Given the description of an element on the screen output the (x, y) to click on. 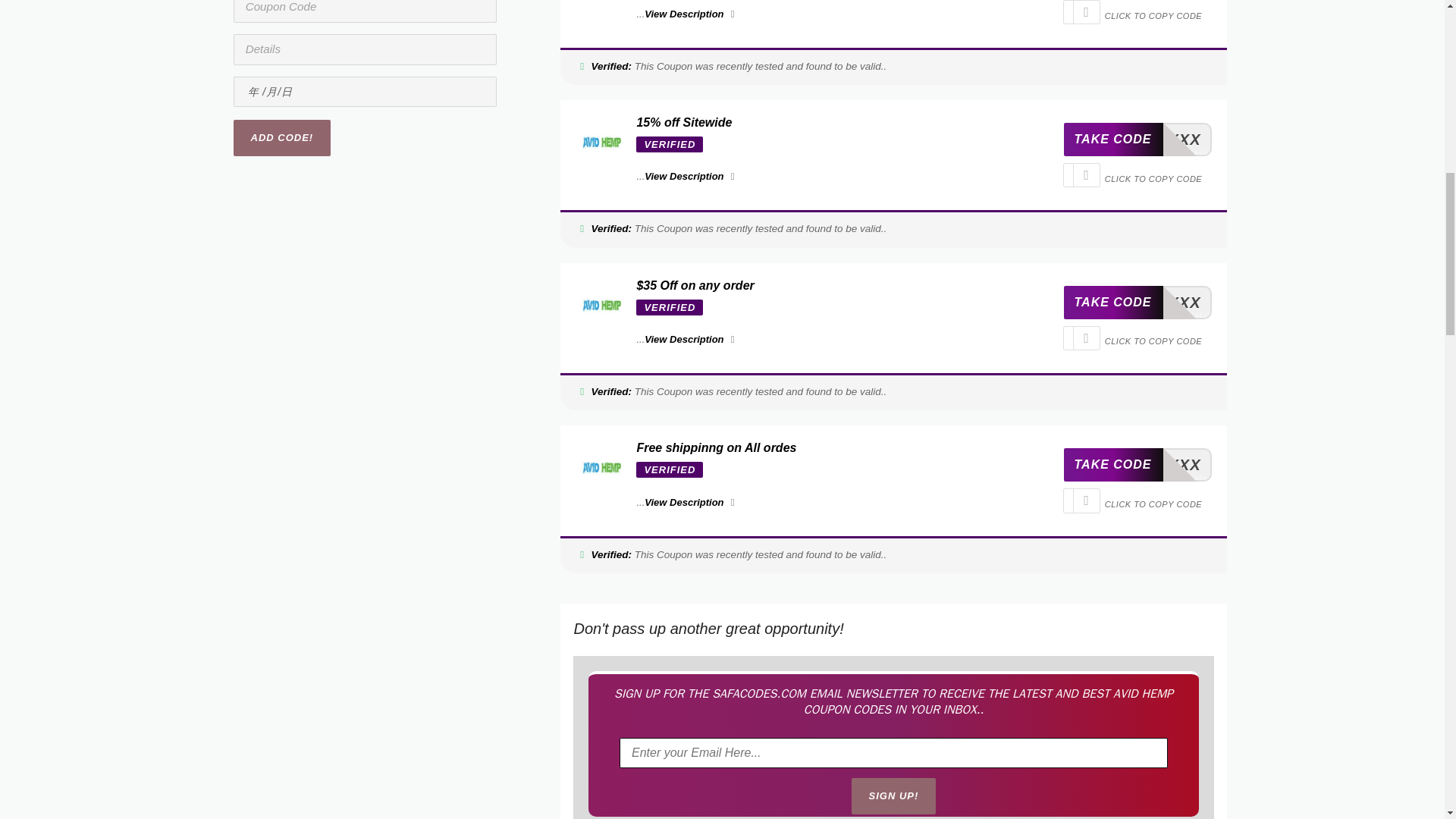
SIGN UP (1136, 139)
SIGN UP! (893, 796)
Add Code (893, 796)
Add Code! (281, 137)
